Given the description of an element on the screen output the (x, y) to click on. 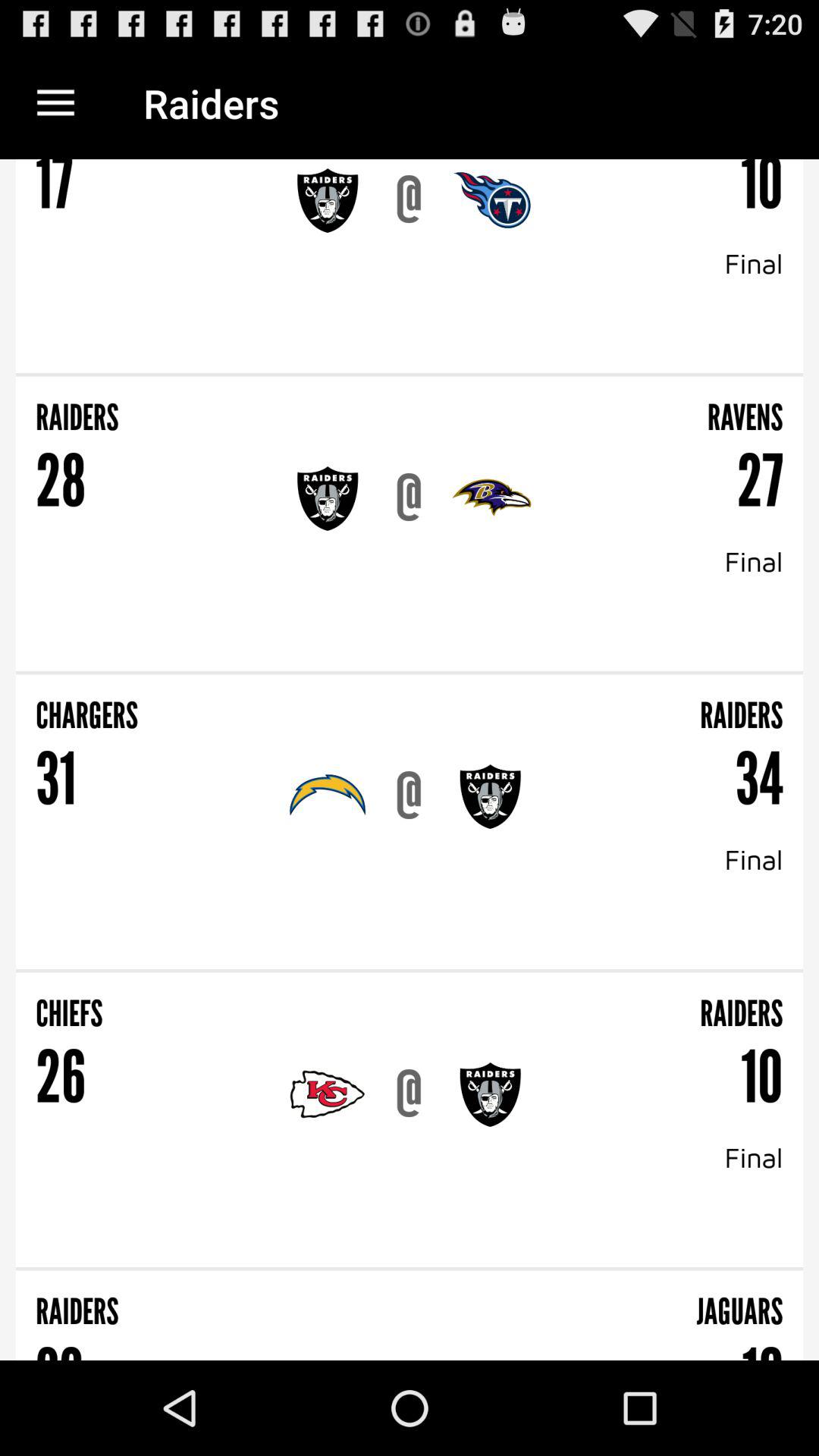
turn on icon below the final icon (409, 375)
